Given the description of an element on the screen output the (x, y) to click on. 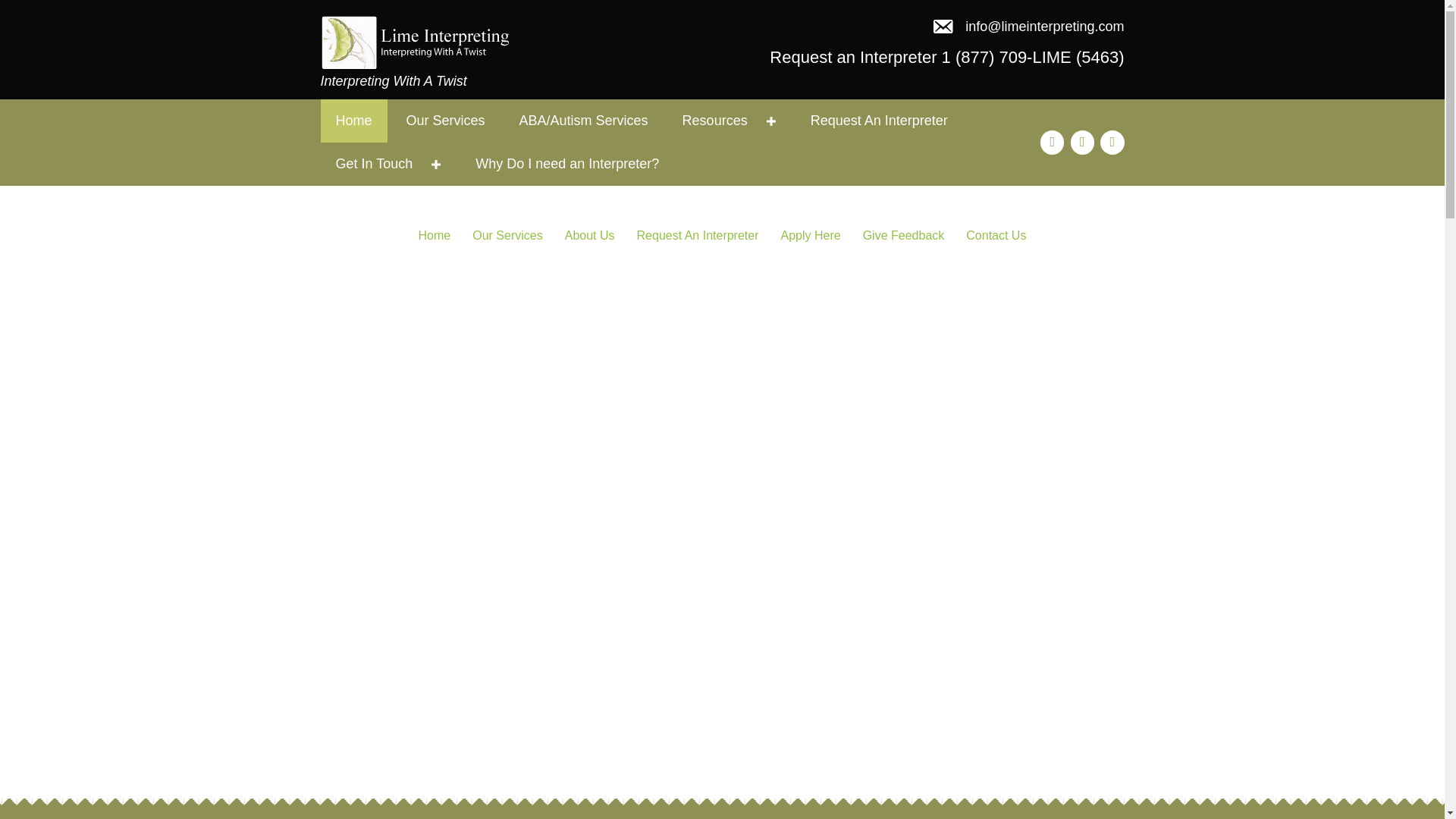
Home (353, 120)
Our Services (445, 120)
Our Services (507, 235)
Contact Us (995, 235)
Apply Here (810, 235)
Request An Interpreter (878, 120)
Resources (729, 120)
Give Feedback (903, 235)
logo (414, 43)
Request An Interpreter (698, 235)
About Us (590, 235)
Get In Touch (388, 163)
Why Do I need an Interpreter? (567, 163)
Home (434, 235)
